Given the description of an element on the screen output the (x, y) to click on. 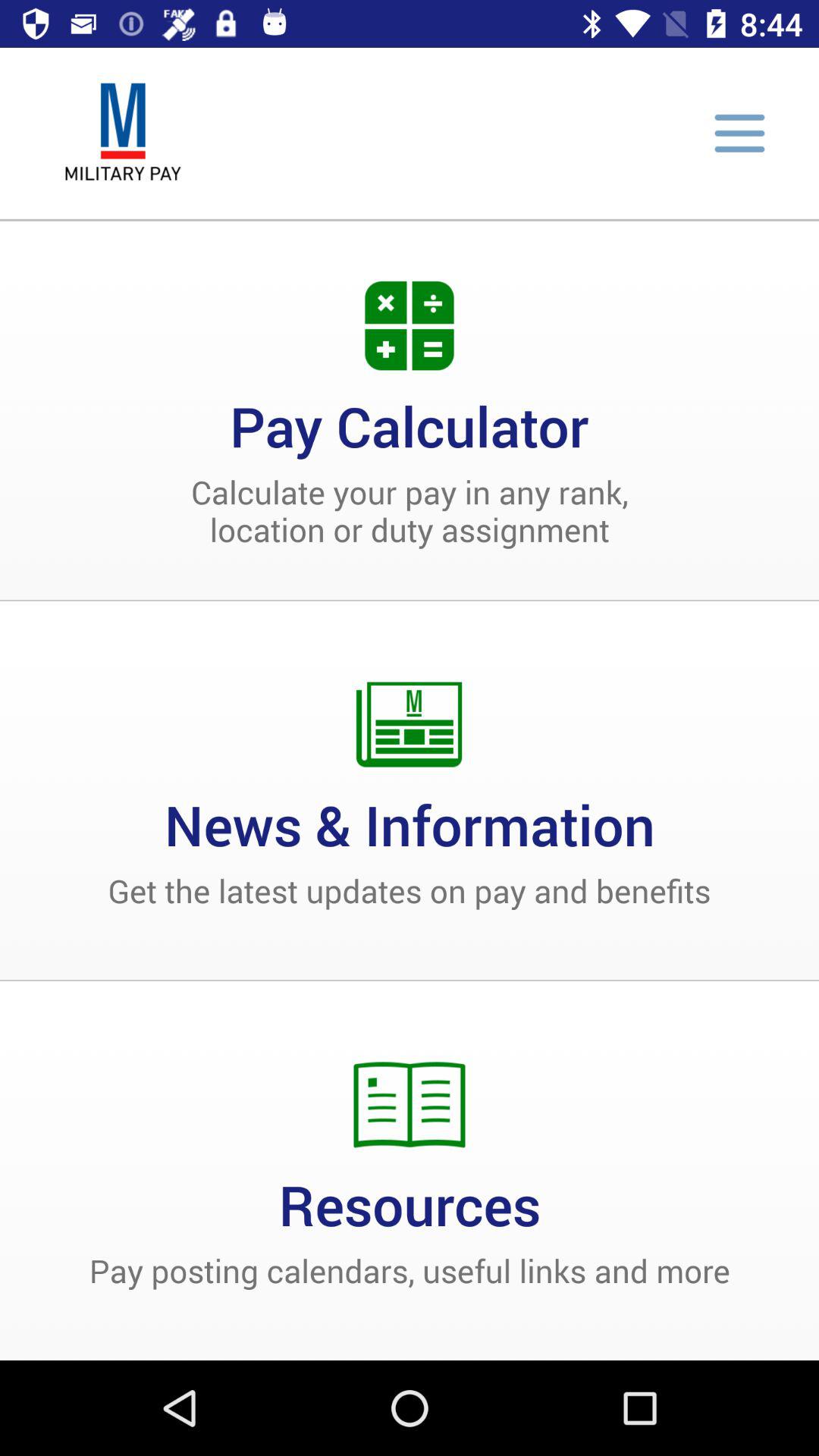
toggle options (739, 132)
